Given the description of an element on the screen output the (x, y) to click on. 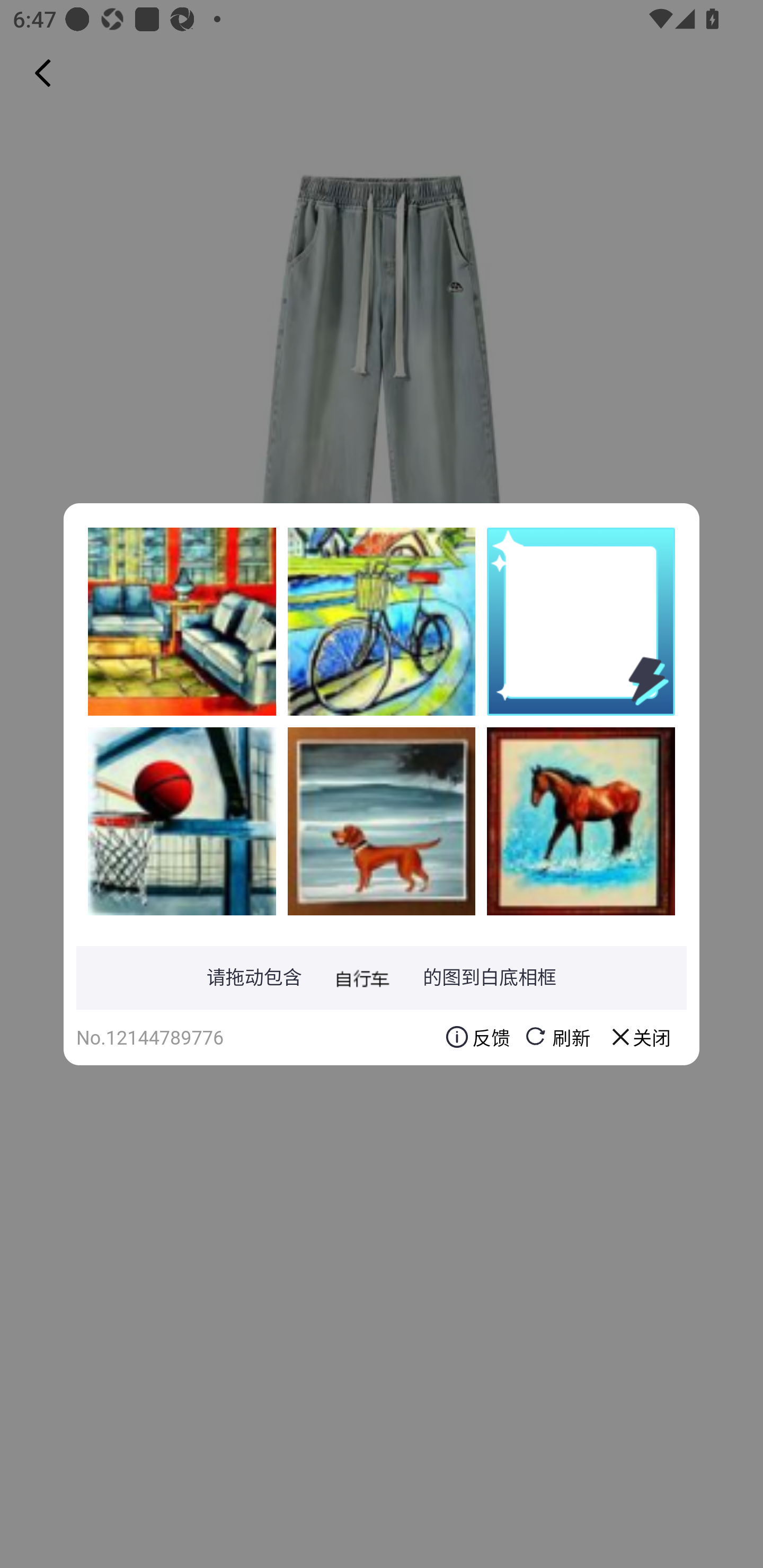
97+8av (181, 820)
